Given the description of an element on the screen output the (x, y) to click on. 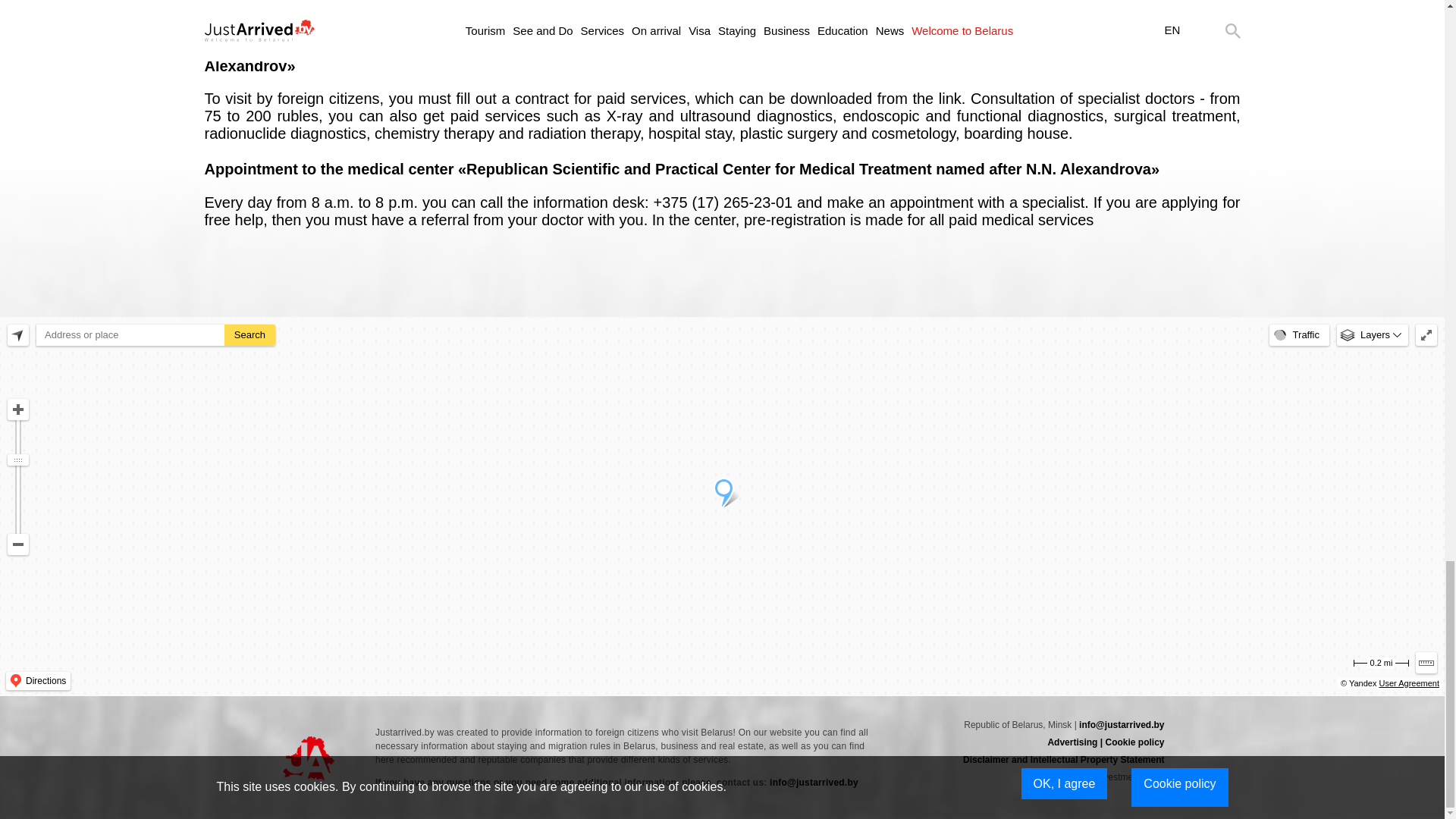
Directions (37, 680)
Measure distance between points on map (1426, 662)
Detect your current location (18, 334)
